Given the description of an element on the screen output the (x, y) to click on. 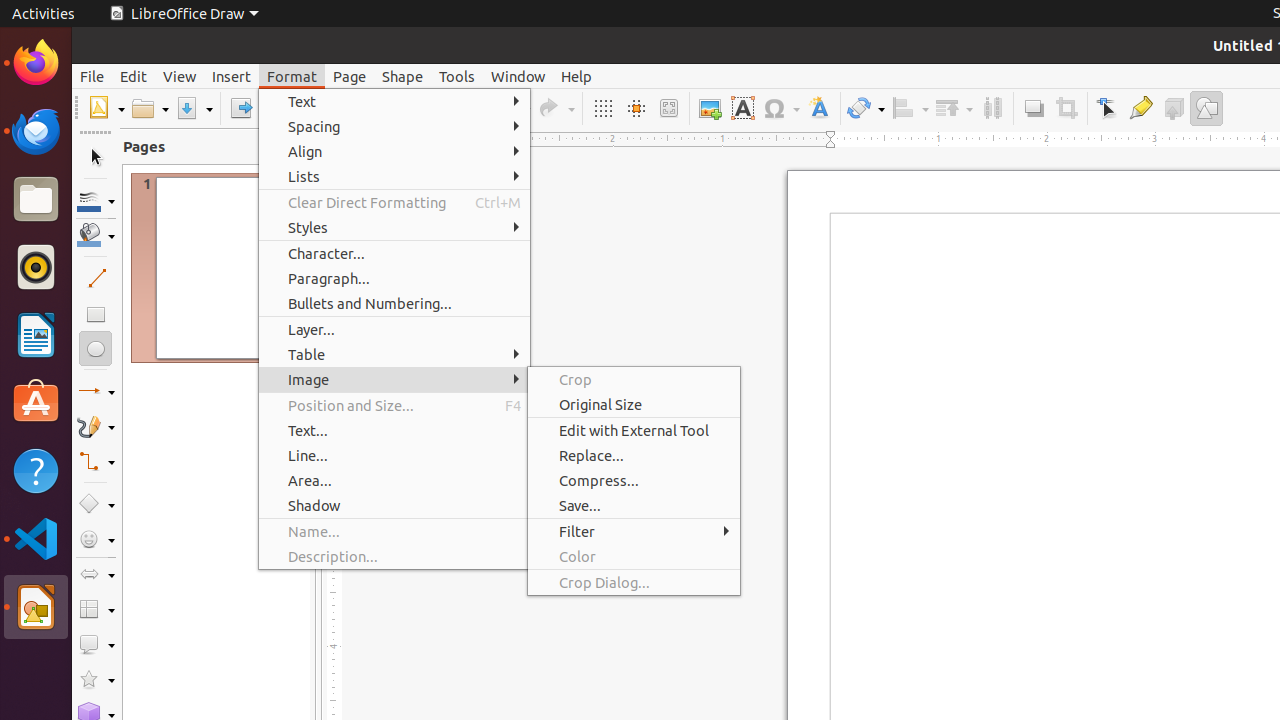
Line Color Element type: push-button (96, 200)
Line... Element type: menu-item (394, 455)
Original Size Element type: menu-item (634, 404)
Description... Element type: menu-item (394, 556)
Arrange Element type: push-button (954, 108)
